Given the description of an element on the screen output the (x, y) to click on. 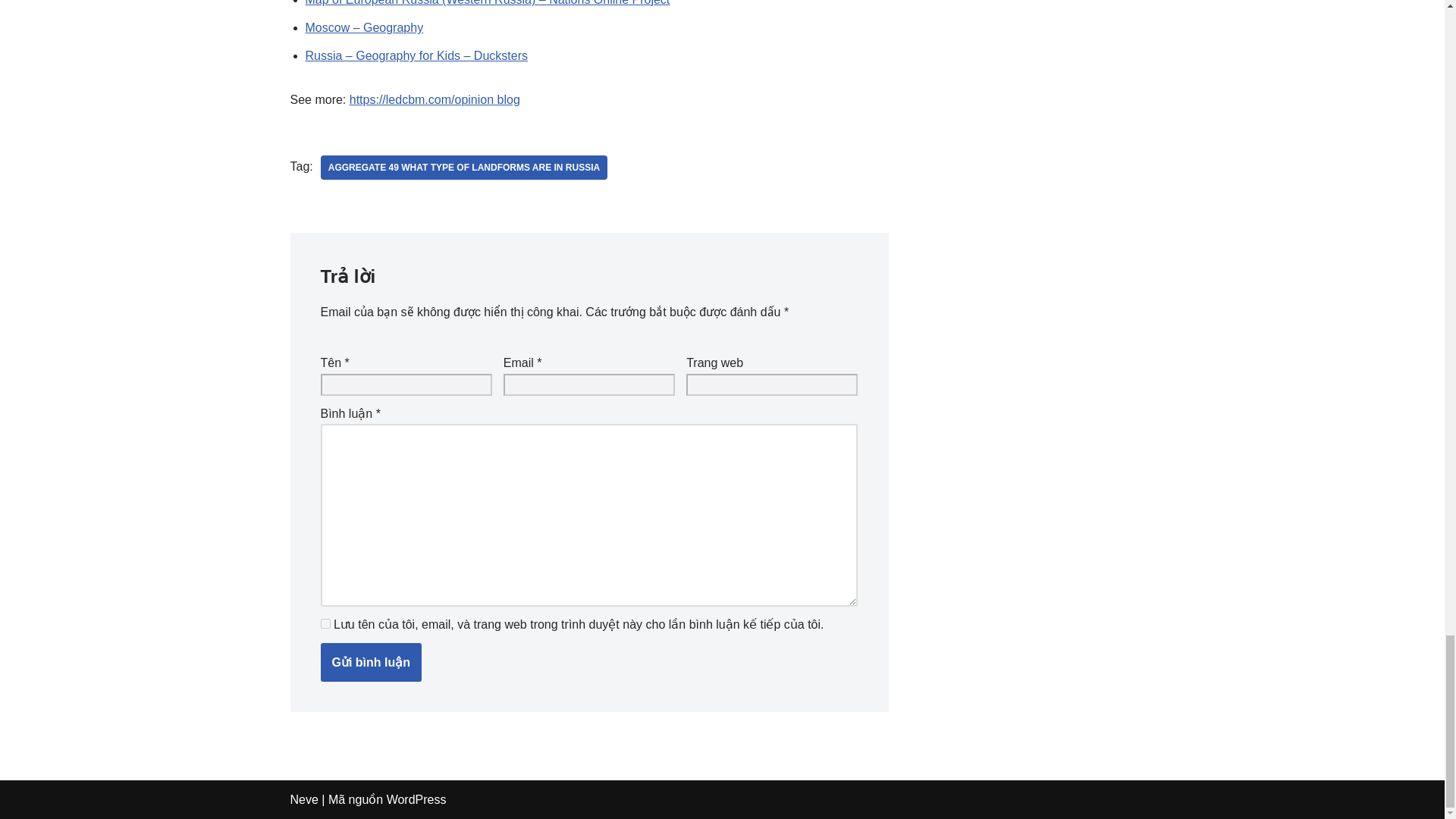
AGGREGATE 49 WHAT TYPE OF LANDFORMS ARE IN RUSSIA (463, 167)
yes (325, 623)
Aggregate 49 What Type Of Landforms Are In Russia (463, 167)
